Given the description of an element on the screen output the (x, y) to click on. 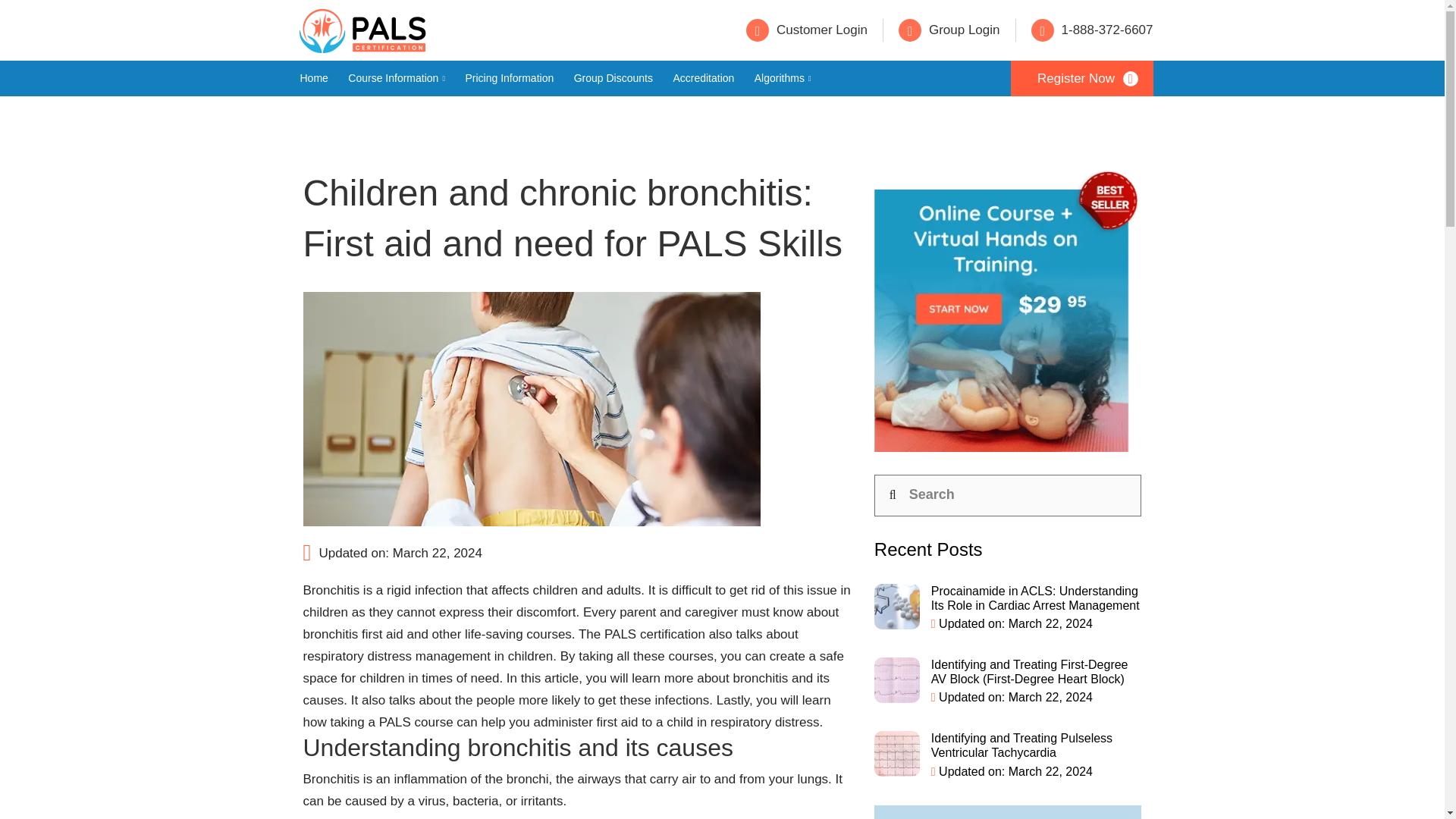
Group Discounts (613, 78)
Accreditation (702, 78)
Customer Login (806, 29)
Identifying and Treating First-Degree AV Block -  (897, 679)
Algorithms (782, 78)
Home (313, 78)
1-888-372-6607 (1091, 29)
Group Login (949, 29)
